Given the description of an element on the screen output the (x, y) to click on. 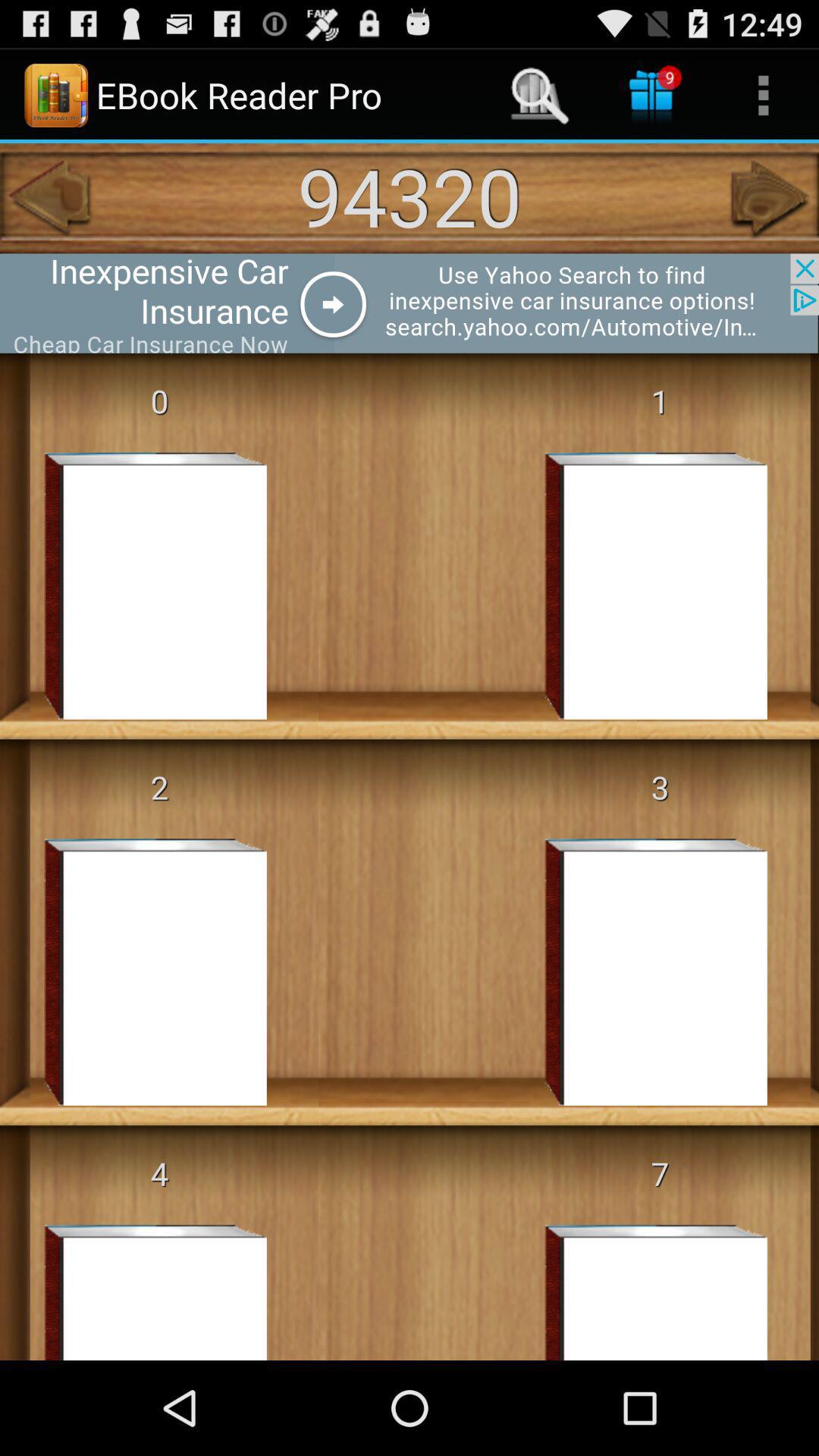
turn on the icon to the right of the 94320 icon (771, 198)
